Given the description of an element on the screen output the (x, y) to click on. 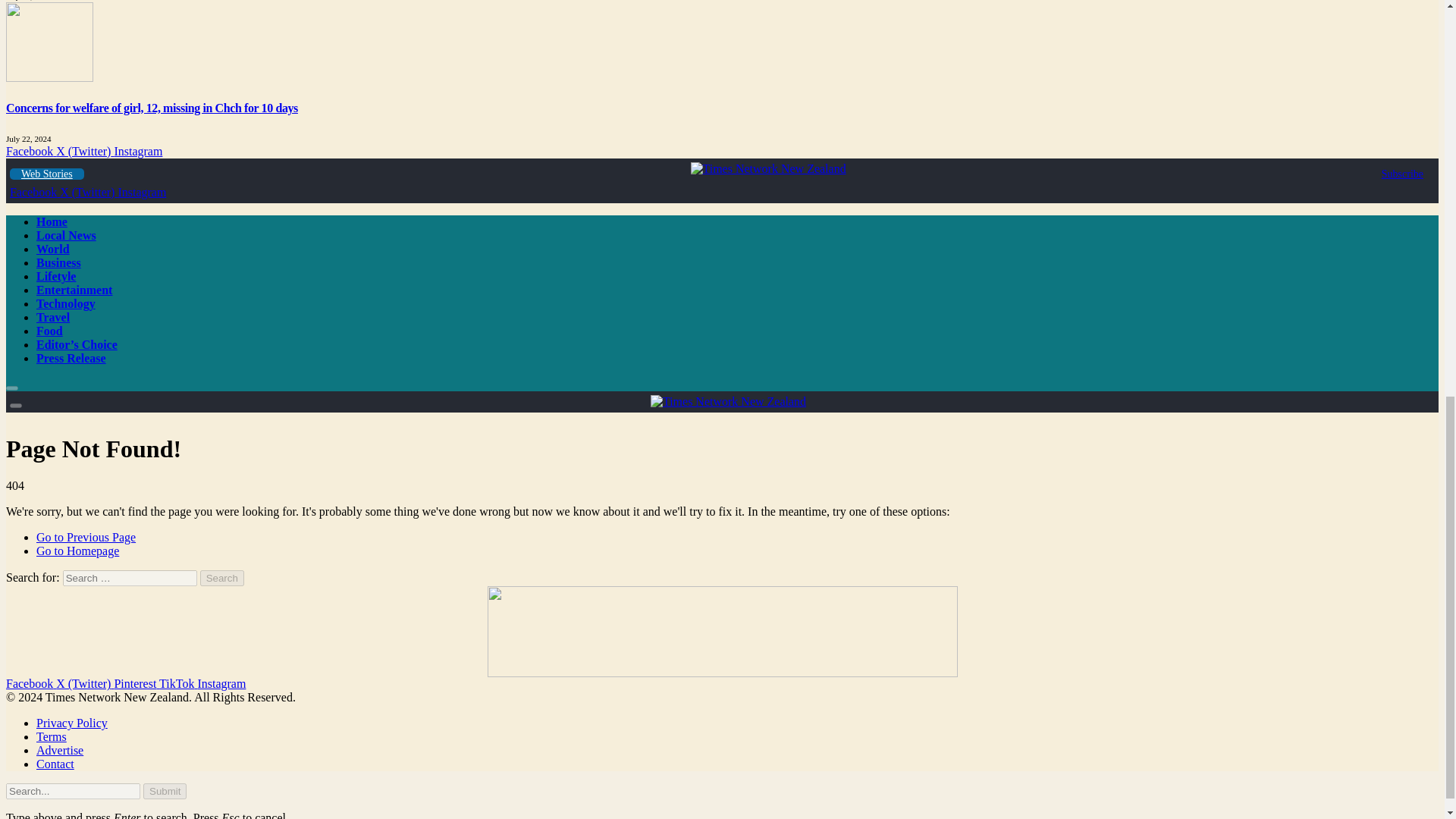
Entertainment (74, 289)
Search (222, 578)
Times Network New Zealand (767, 168)
Home (51, 221)
Instagram (137, 151)
World (52, 248)
Facebook (34, 192)
Times Network New Zealand (728, 400)
Business (58, 262)
Search (222, 578)
Lifetyle (55, 276)
Travel (52, 317)
Local News (66, 235)
